Given the description of an element on the screen output the (x, y) to click on. 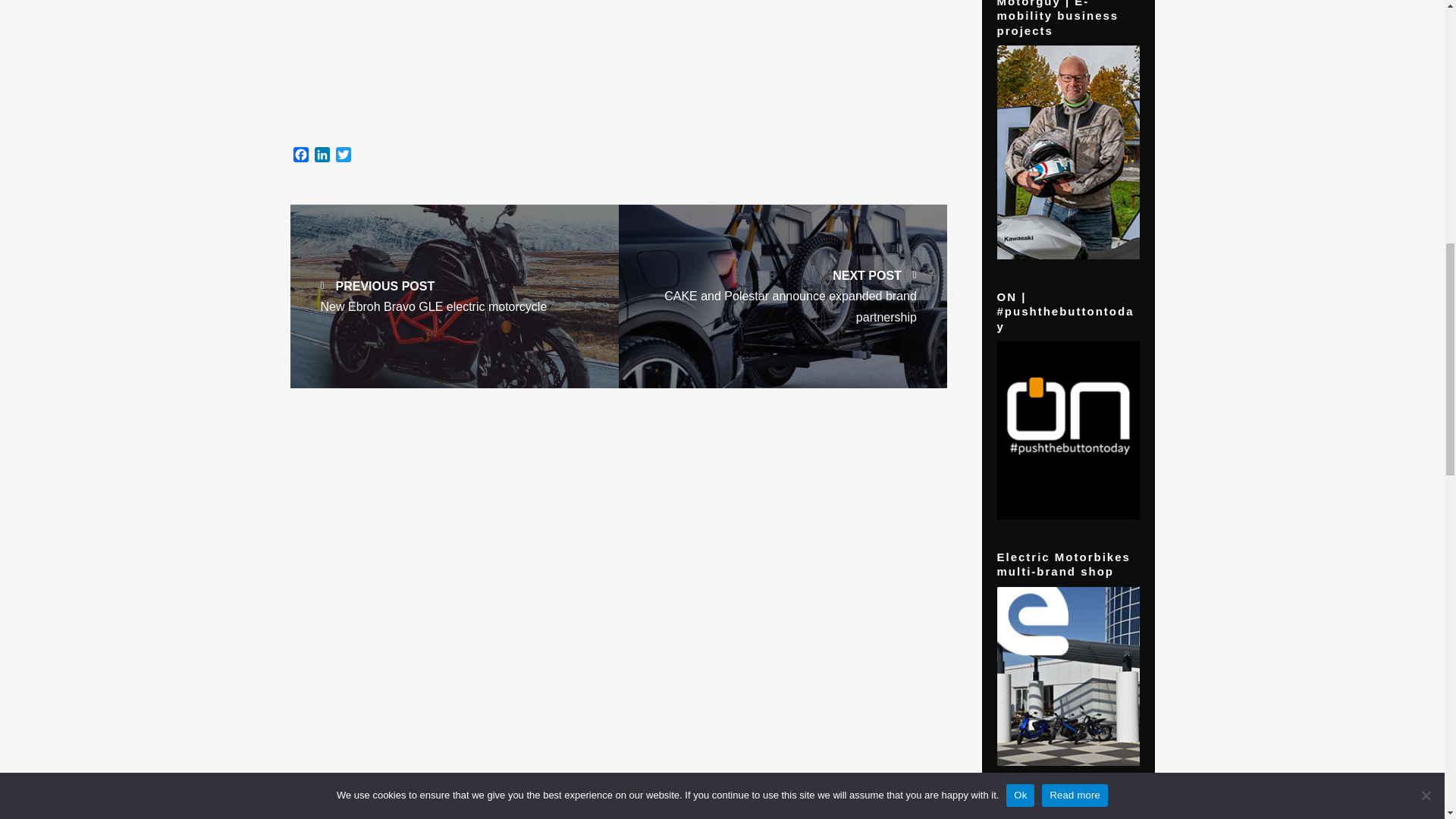
Facebook (300, 156)
Investment electric motorcycle (617, 65)
Twitter (342, 156)
LinkedIn (321, 156)
